Given the description of an element on the screen output the (x, y) to click on. 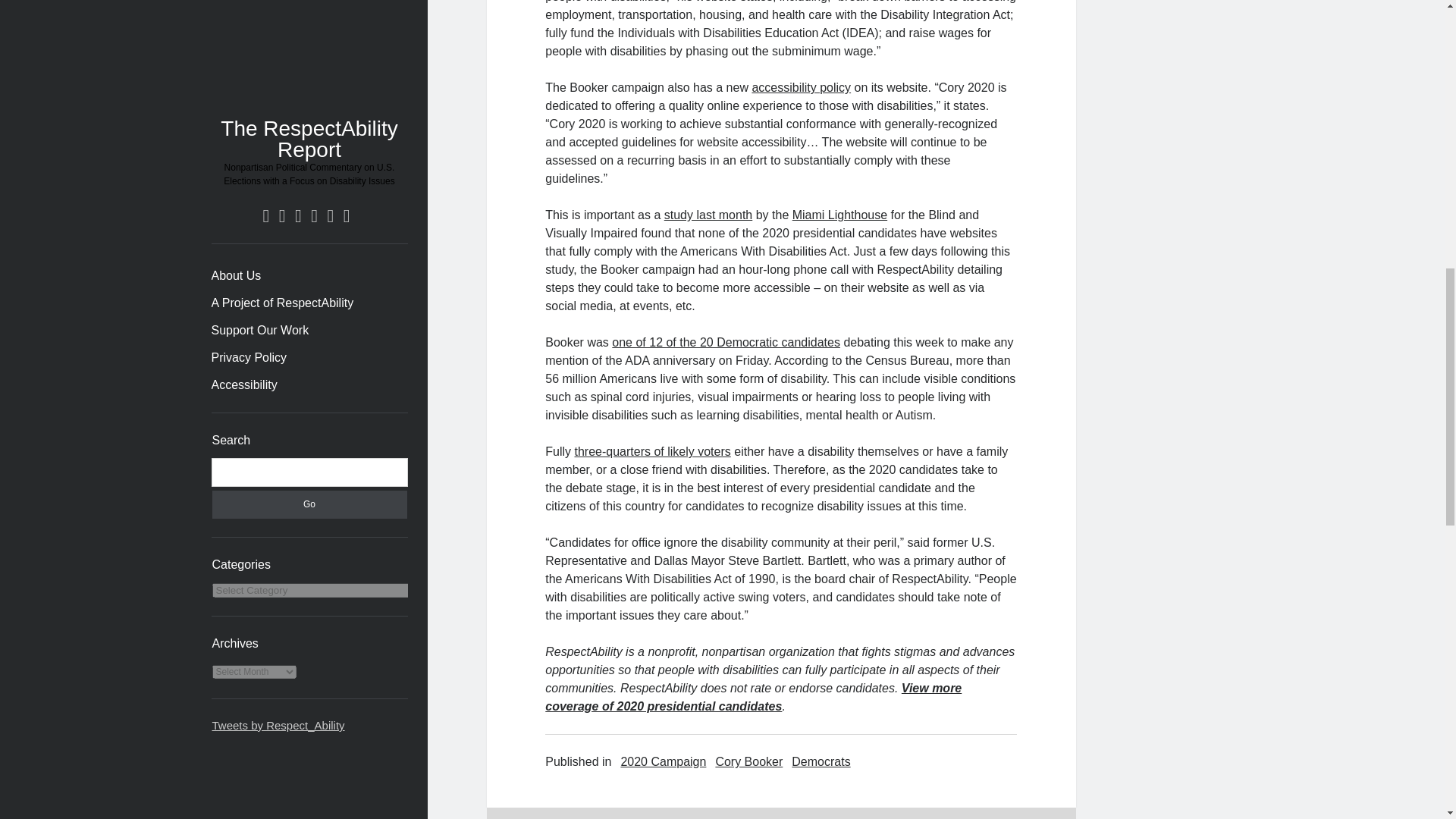
study last month (707, 214)
View all posts in Democrats (821, 761)
three-quarters of likely voters (651, 451)
Cory Booker (748, 761)
one of 12 of the 20 Democratic candidates (725, 341)
View all posts in Cory Booker (748, 761)
accessibility policy (800, 87)
View all posts in 2020 Campaign (663, 761)
View more coverage of 2020 presidential candidates (752, 696)
Miami Lighthouse (839, 214)
